Given the description of an element on the screen output the (x, y) to click on. 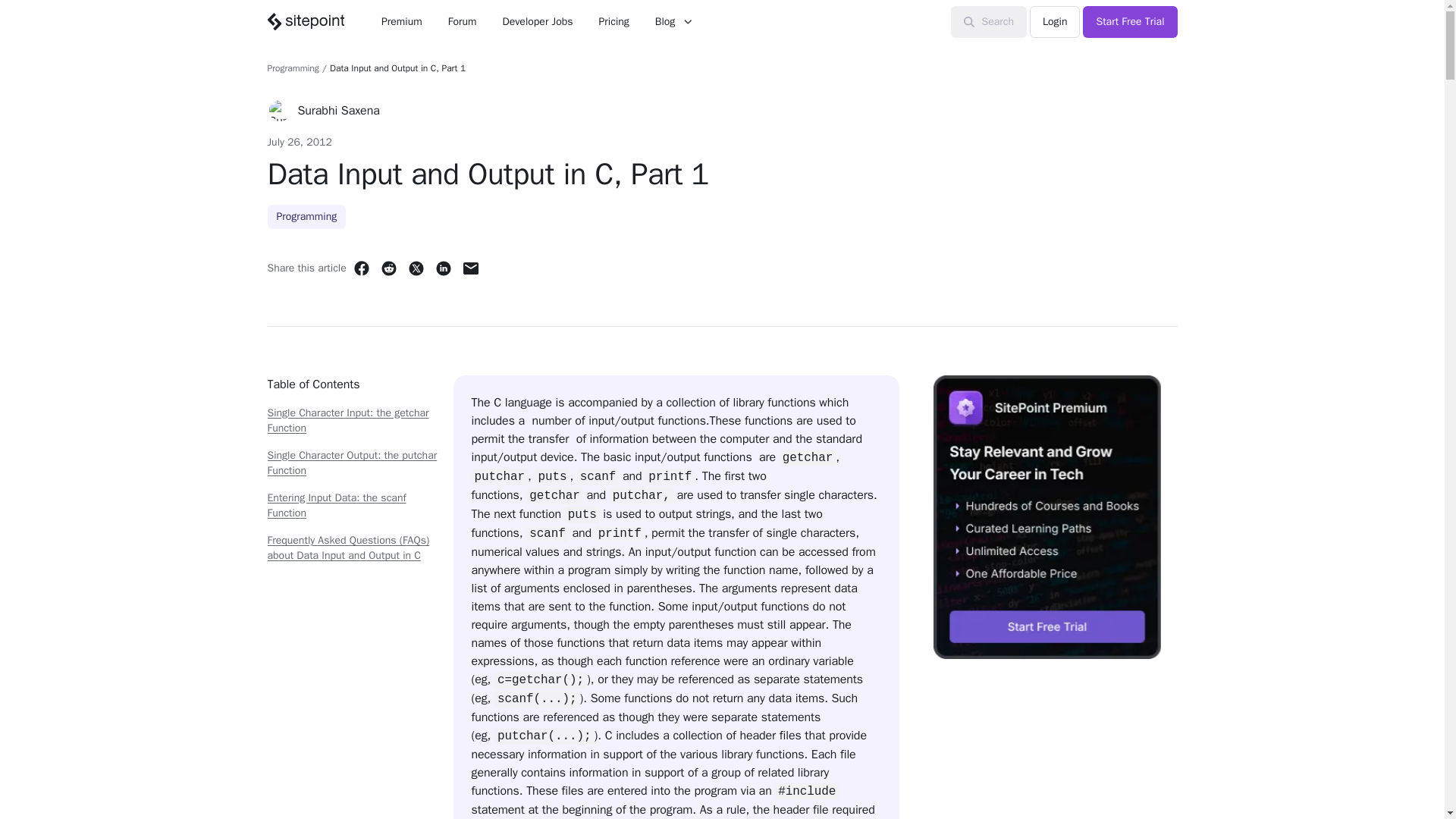
Single Character Output: the putchar Function (351, 462)
Table of Contents (353, 390)
Entering Input Data: the scanf Function (336, 505)
Premium (401, 21)
Surabhi Saxena (337, 110)
Start Free Trial (1129, 21)
Blog (674, 21)
Programming (306, 216)
Forum (462, 21)
Programming (292, 68)
